Given the description of an element on the screen output the (x, y) to click on. 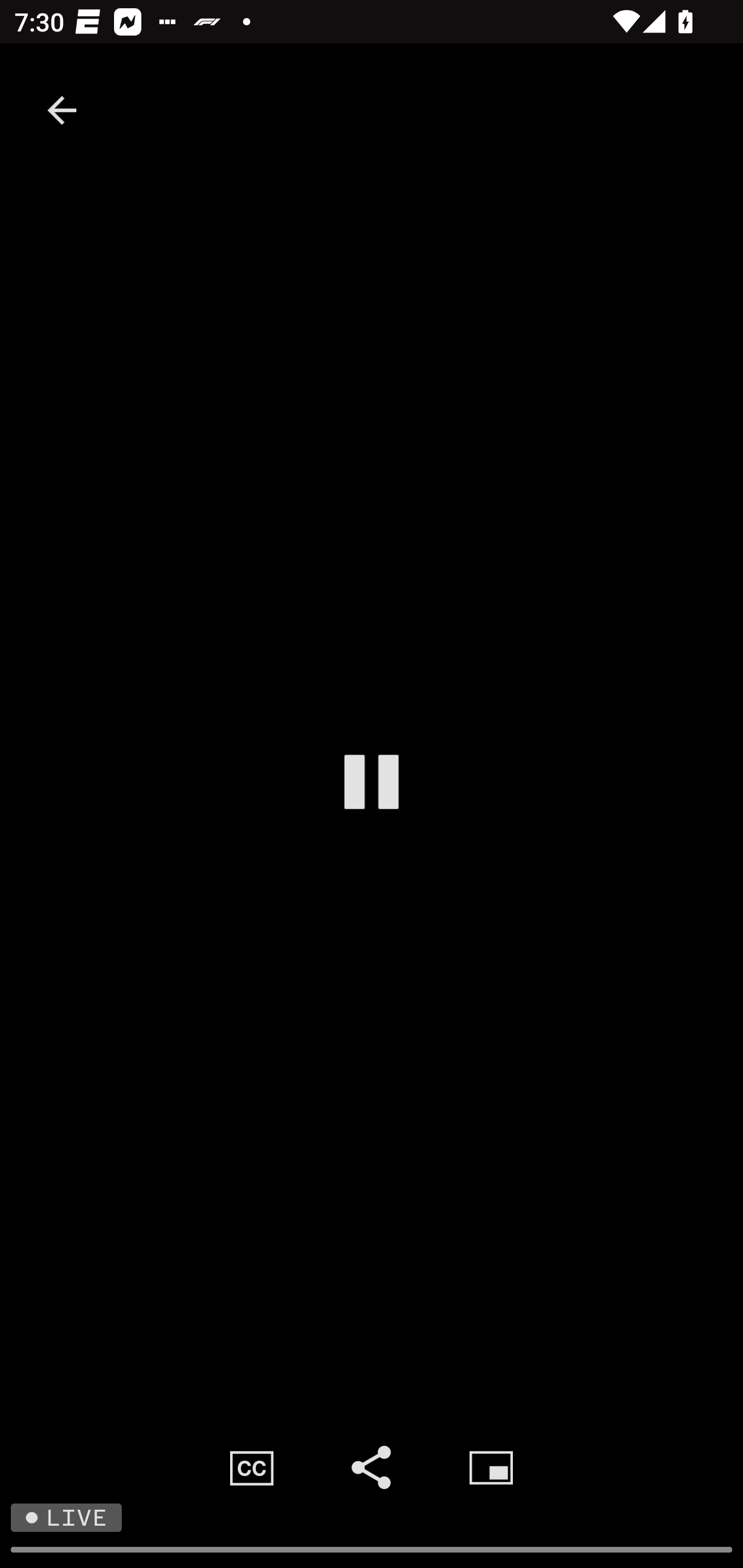
Back (61, 110)
Pause (371, 781)
Closed Captions, ON (251, 1467)
Share Media (371, 1467)
Picture in Picture Media (490, 1467)
